Given the description of an element on the screen output the (x, y) to click on. 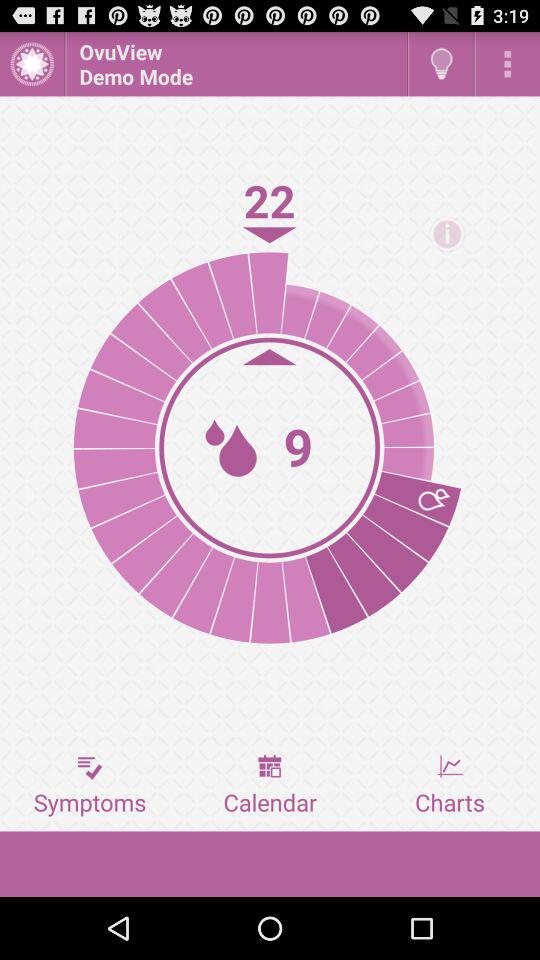
turn off the ovuview
demo mode item (236, 63)
